Given the description of an element on the screen output the (x, y) to click on. 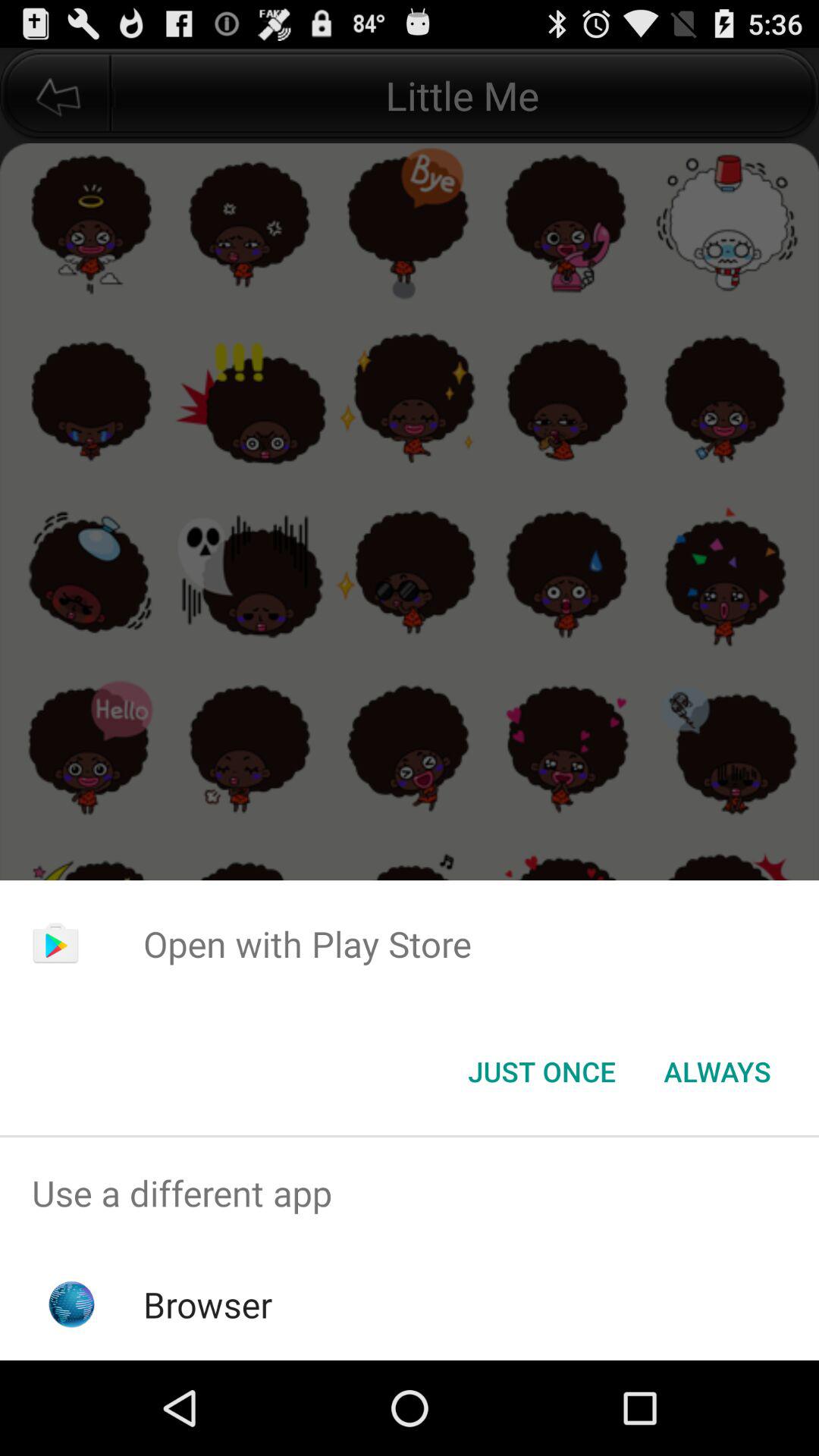
open the button to the left of the always (541, 1071)
